Given the description of an element on the screen output the (x, y) to click on. 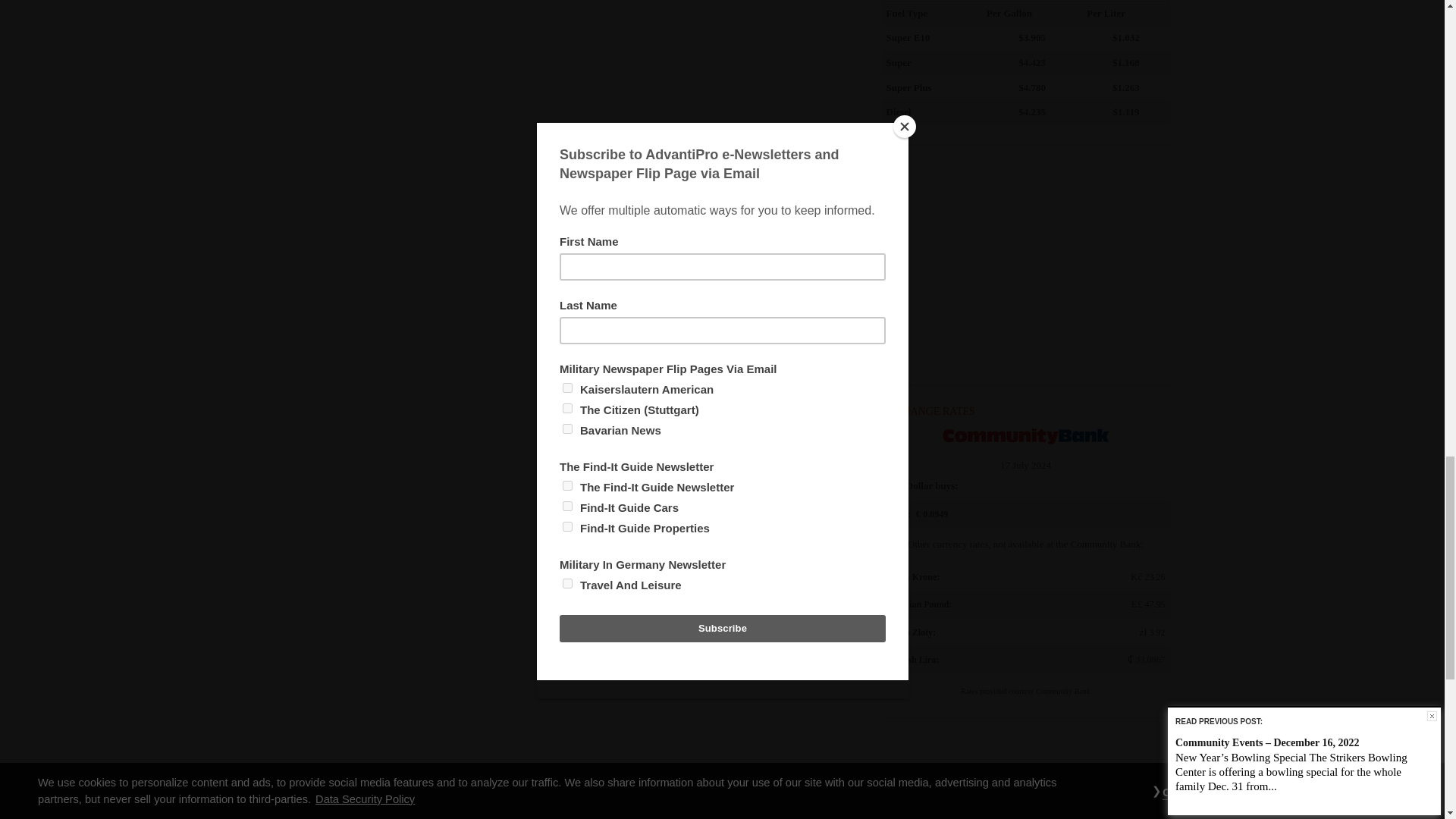
3rd party ad content (1025, 781)
3rd party ad content (1024, 266)
